Given the description of an element on the screen output the (x, y) to click on. 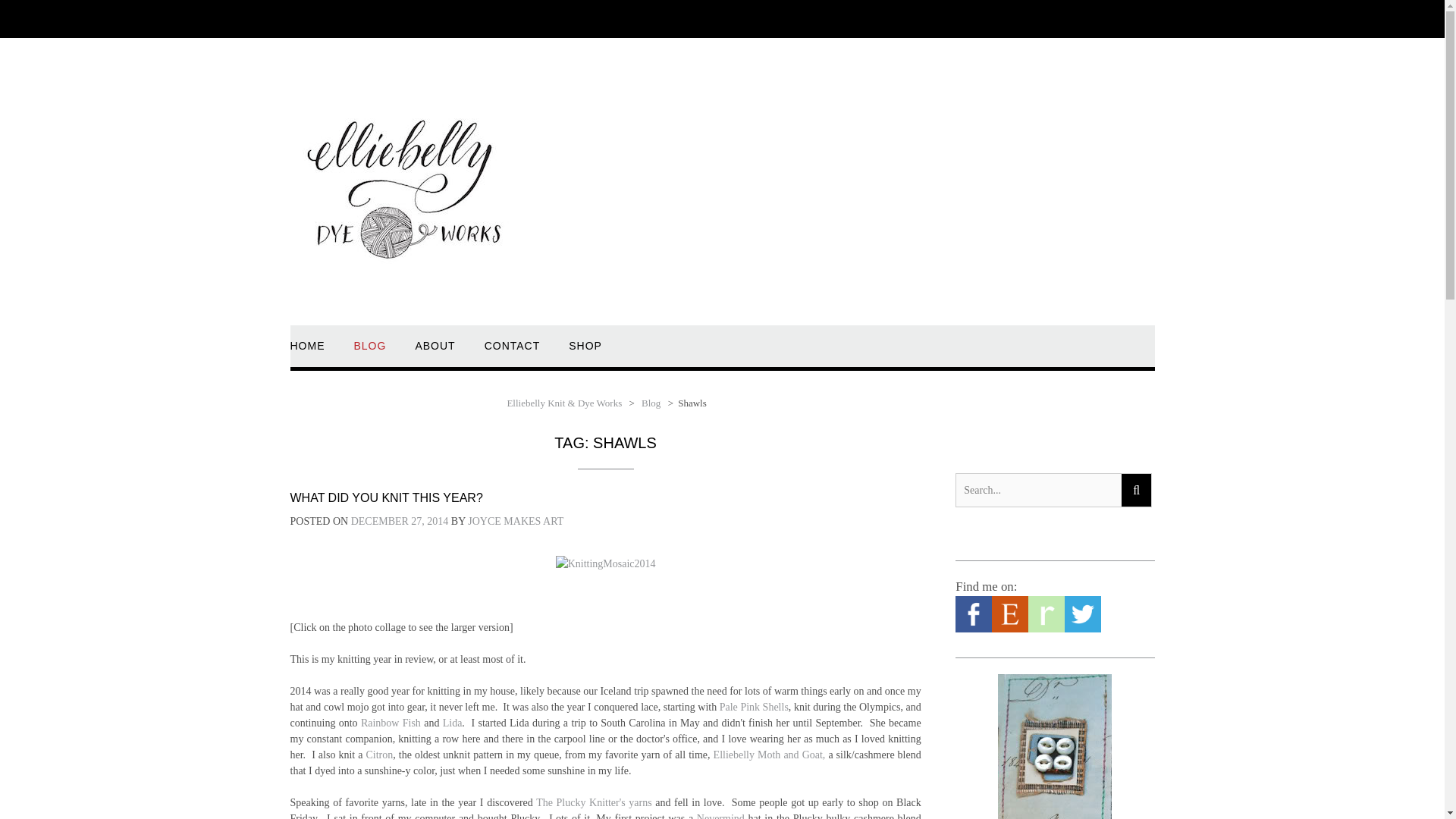
Ravelry (1045, 628)
Pale Pink Shells (754, 706)
Facebook (973, 628)
DECEMBER 27, 2014 (399, 521)
HOME (306, 352)
Twitter (1082, 628)
Search for: (1038, 489)
WHAT DID YOU KNIT THIS YEAR? (385, 497)
ABOUT (434, 352)
Blog (651, 402)
